Given the description of an element on the screen output the (x, y) to click on. 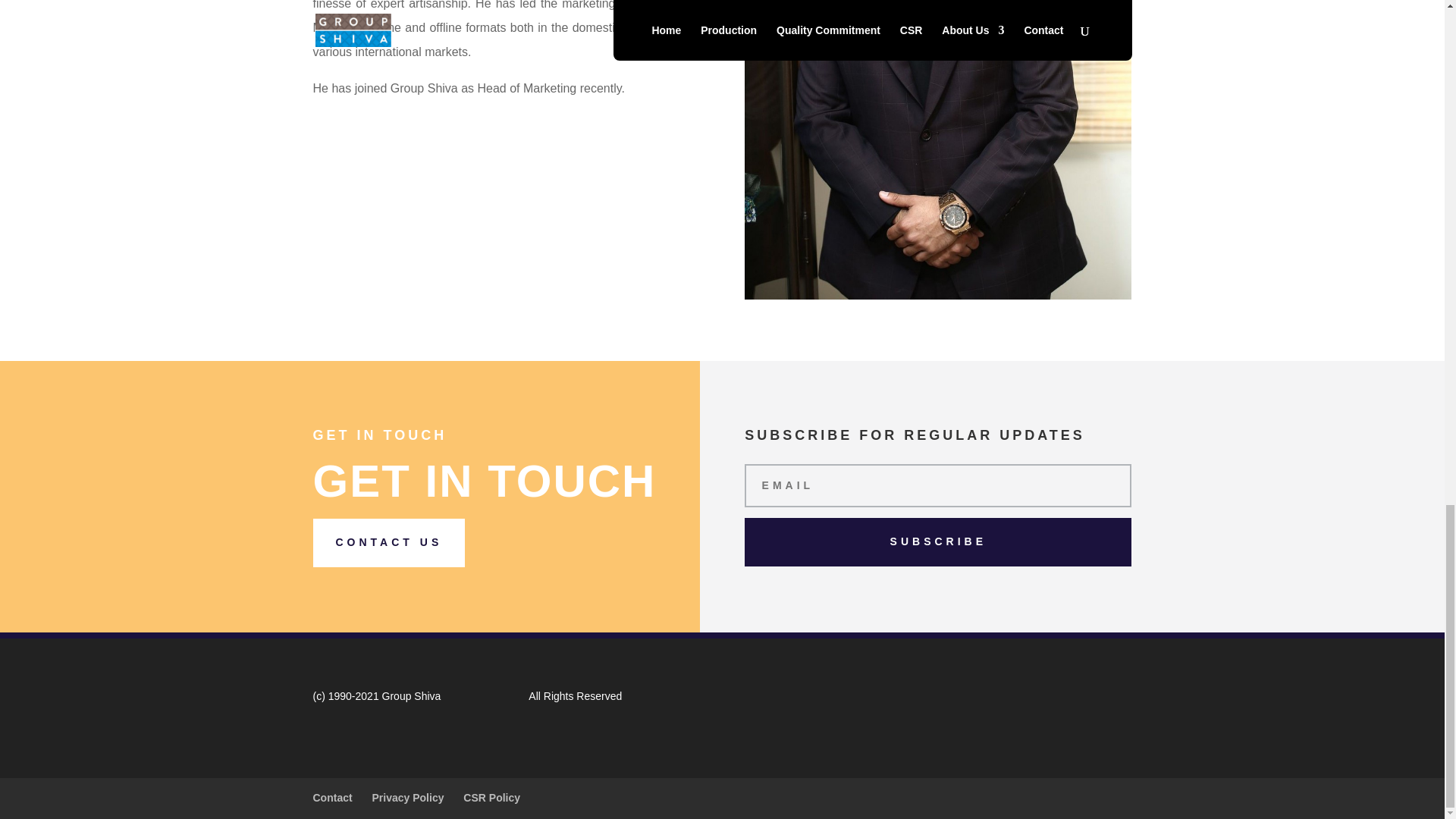
Privacy Policy (408, 797)
CONTACT US (388, 542)
Contact (332, 797)
CSR Policy (491, 797)
Saahil (937, 150)
SUBSCRIBE (937, 541)
